Given the description of an element on the screen output the (x, y) to click on. 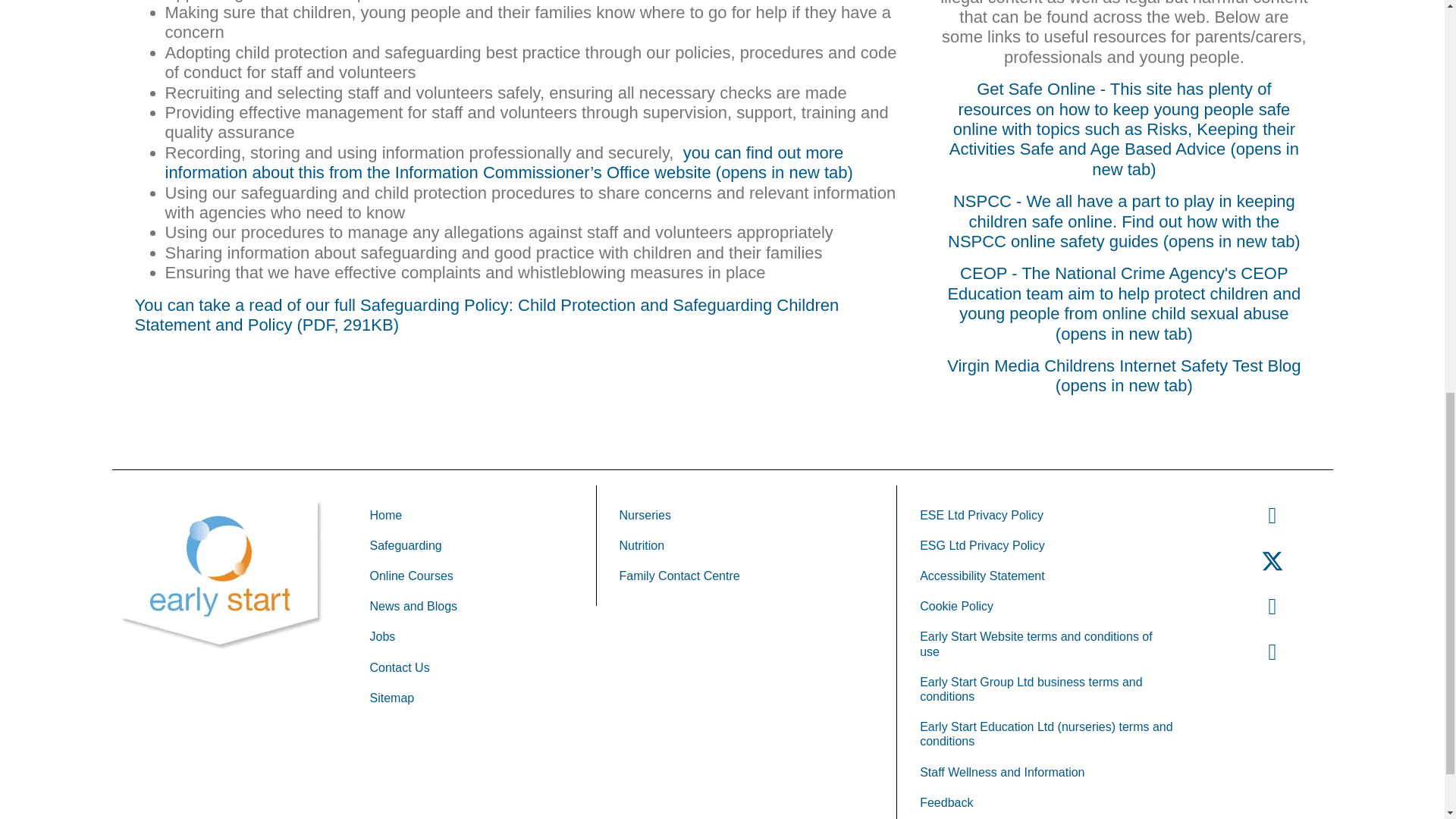
Safeguarding (471, 545)
Instagram (1272, 606)
ESG Logo Group (221, 575)
Facebook (1272, 515)
